Given the description of an element on the screen output the (x, y) to click on. 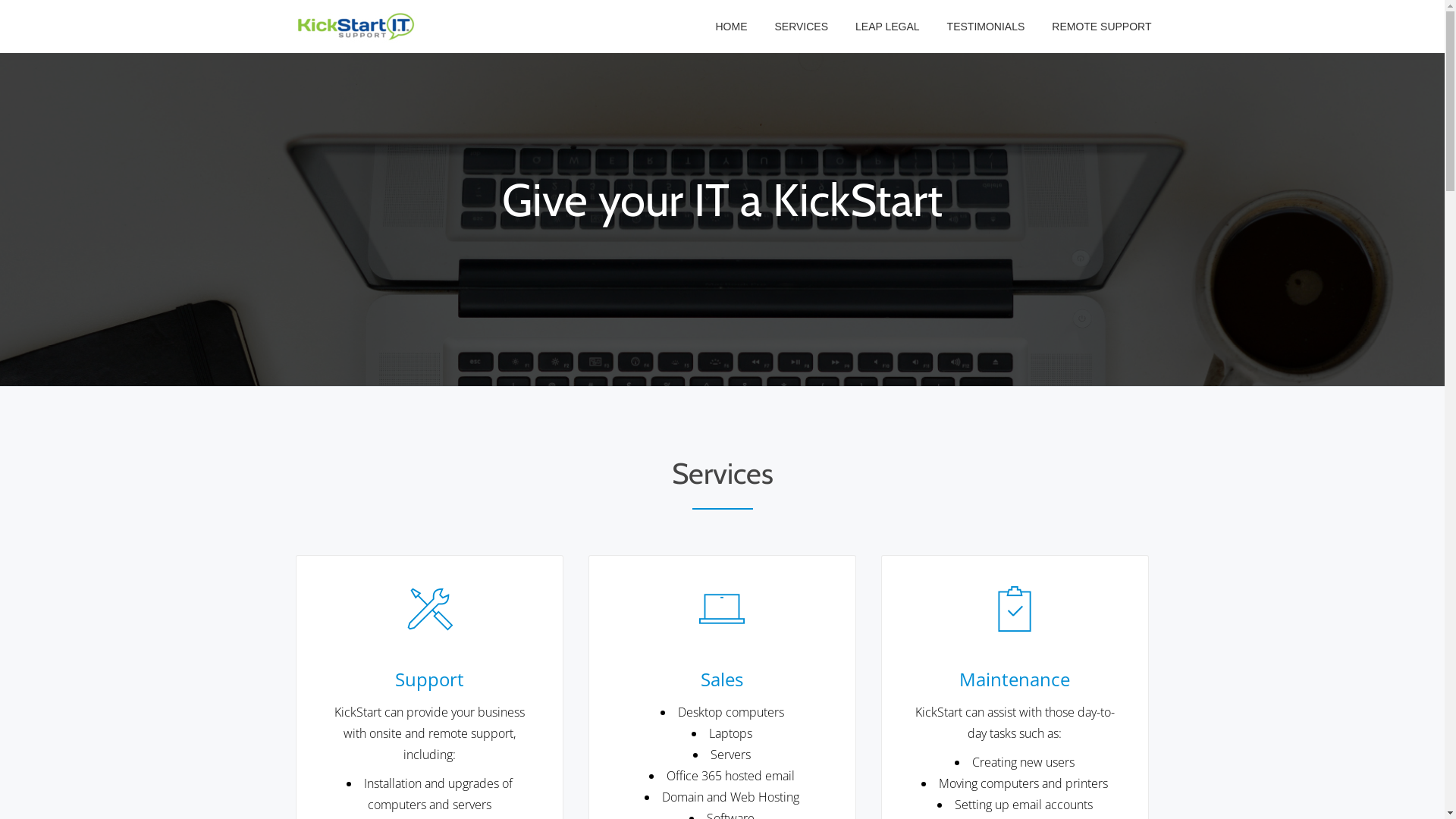
LEAP LEGAL Element type: text (887, 26)
Skip to content Element type: text (0, 30)
TESTIMONIALS Element type: text (986, 26)
HOME Element type: text (730, 26)
KickStart IT Support Element type: hover (356, 26)
REMOTE SUPPORT Element type: text (1101, 26)
SERVICES Element type: text (801, 26)
